Given the description of an element on the screen output the (x, y) to click on. 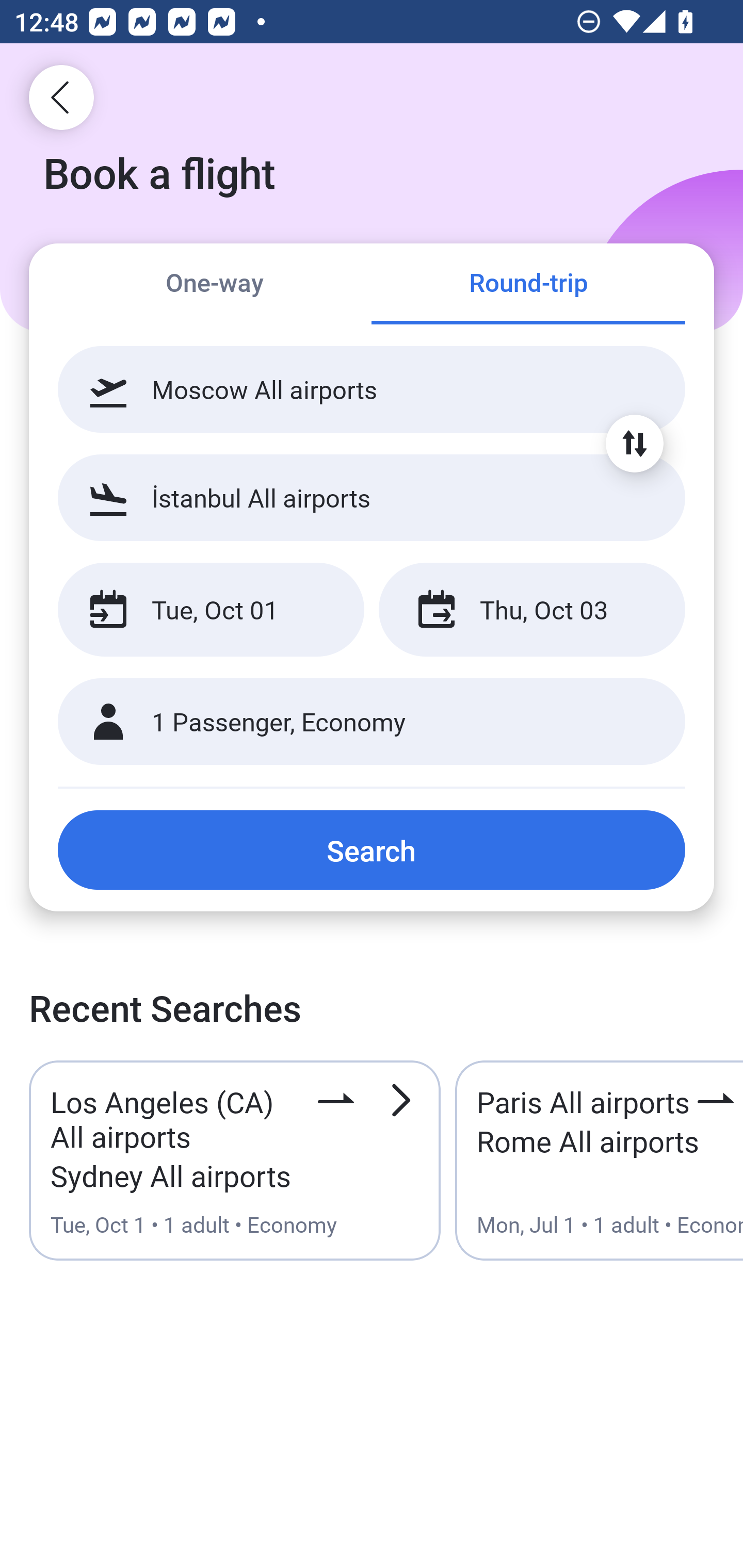
One-way (214, 284)
Moscow All airports (371, 389)
İstanbul All airports (371, 497)
Tue, Oct 01 (210, 609)
Thu, Oct 03 (531, 609)
1 Passenger, Economy (371, 721)
Search (371, 849)
